Given the description of an element on the screen output the (x, y) to click on. 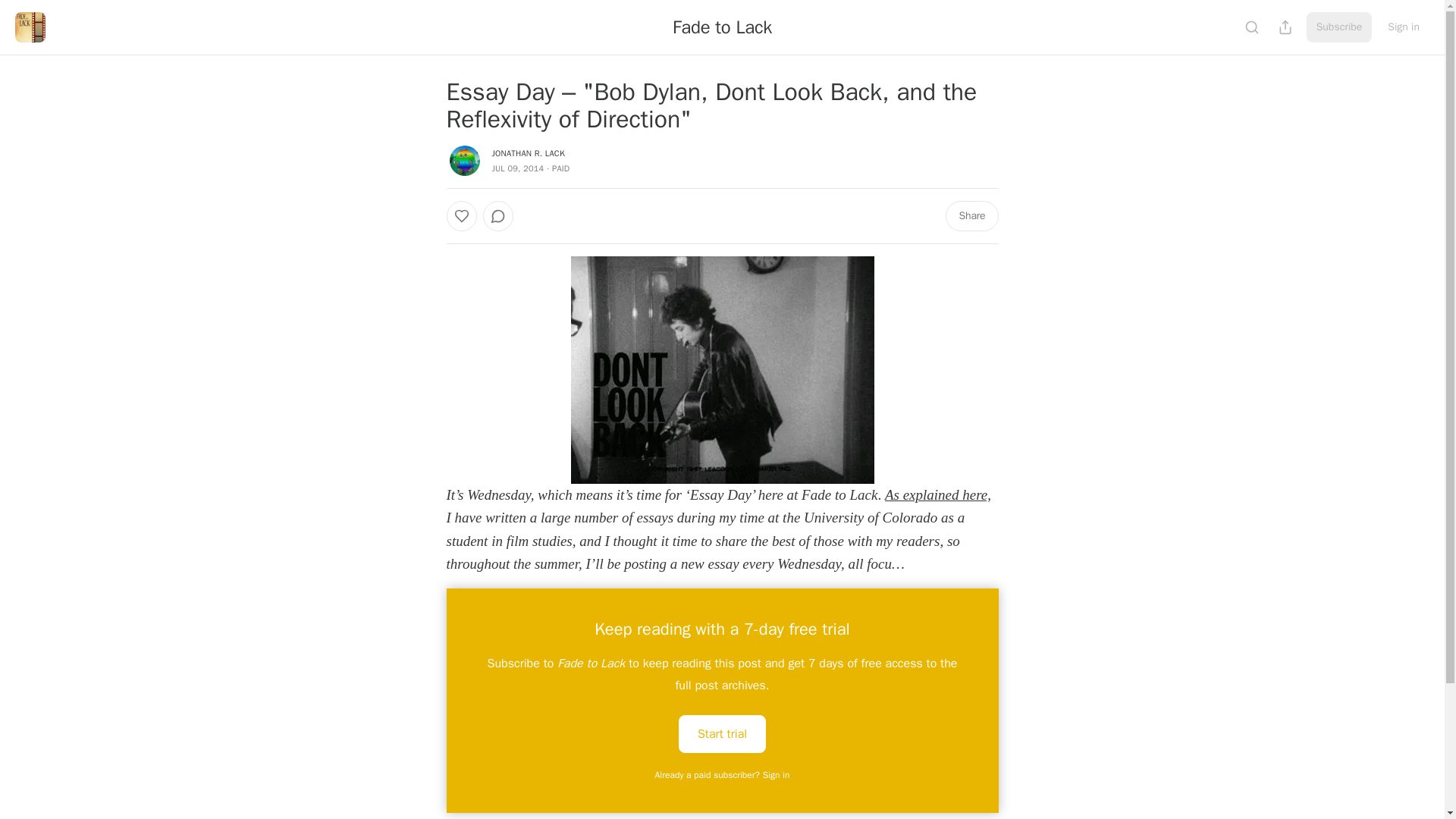
Start trial (721, 733)
Already a paid subscriber? Sign in (722, 775)
Fade to Lack (721, 26)
Subscribe (1339, 27)
Share (970, 215)
As explained here, (938, 494)
Sign in (1403, 27)
Start trial (721, 732)
JONATHAN R. LACK (528, 153)
